Given the description of an element on the screen output the (x, y) to click on. 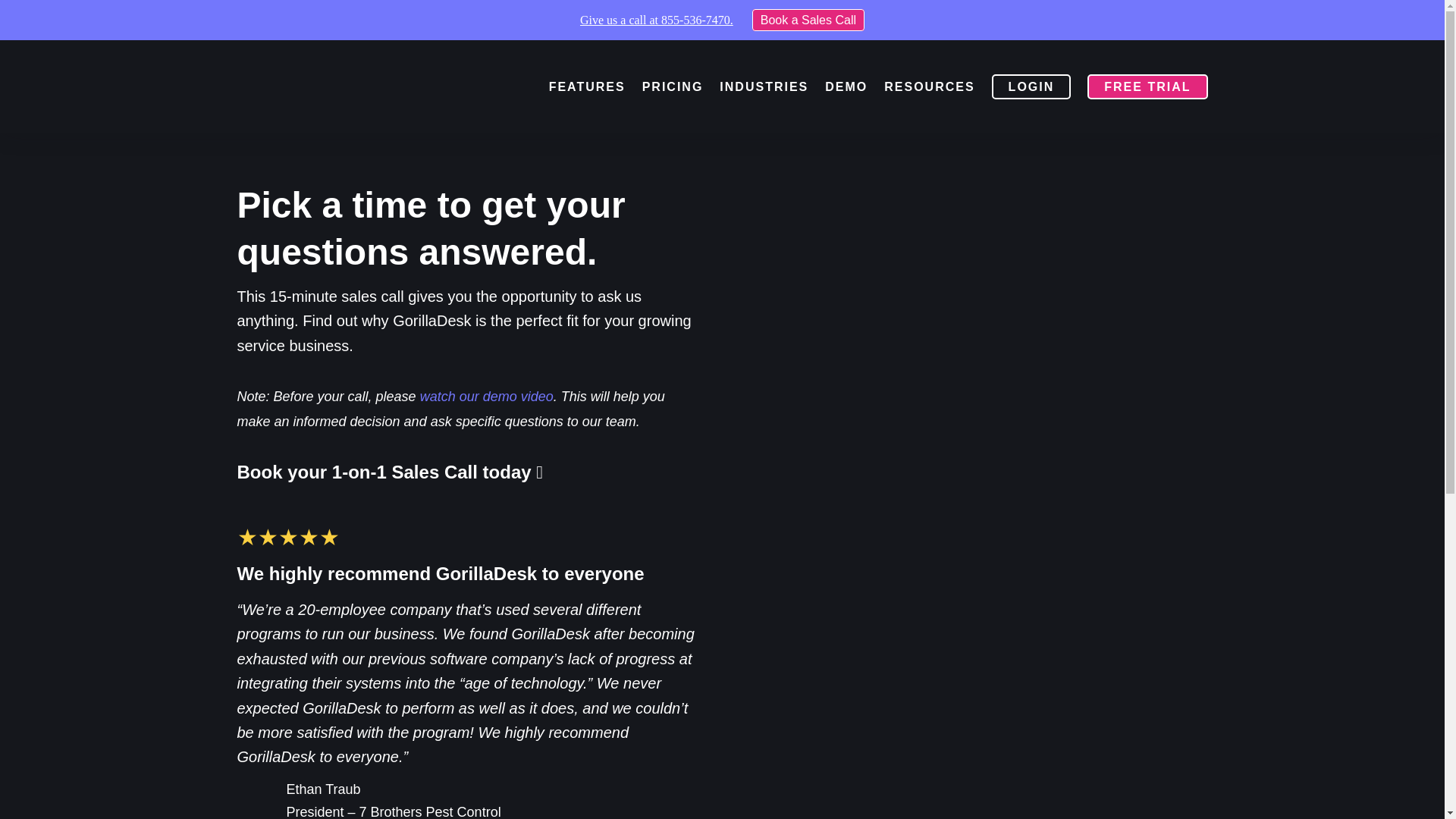
watch our demo video (486, 396)
RESOURCES (928, 86)
855-536-7470. (697, 19)
Book a Sales Call (808, 20)
LOGIN (1031, 86)
FREE TRIAL (1147, 86)
INDUSTRIES (763, 86)
FEATURES (587, 86)
